Given the description of an element on the screen output the (x, y) to click on. 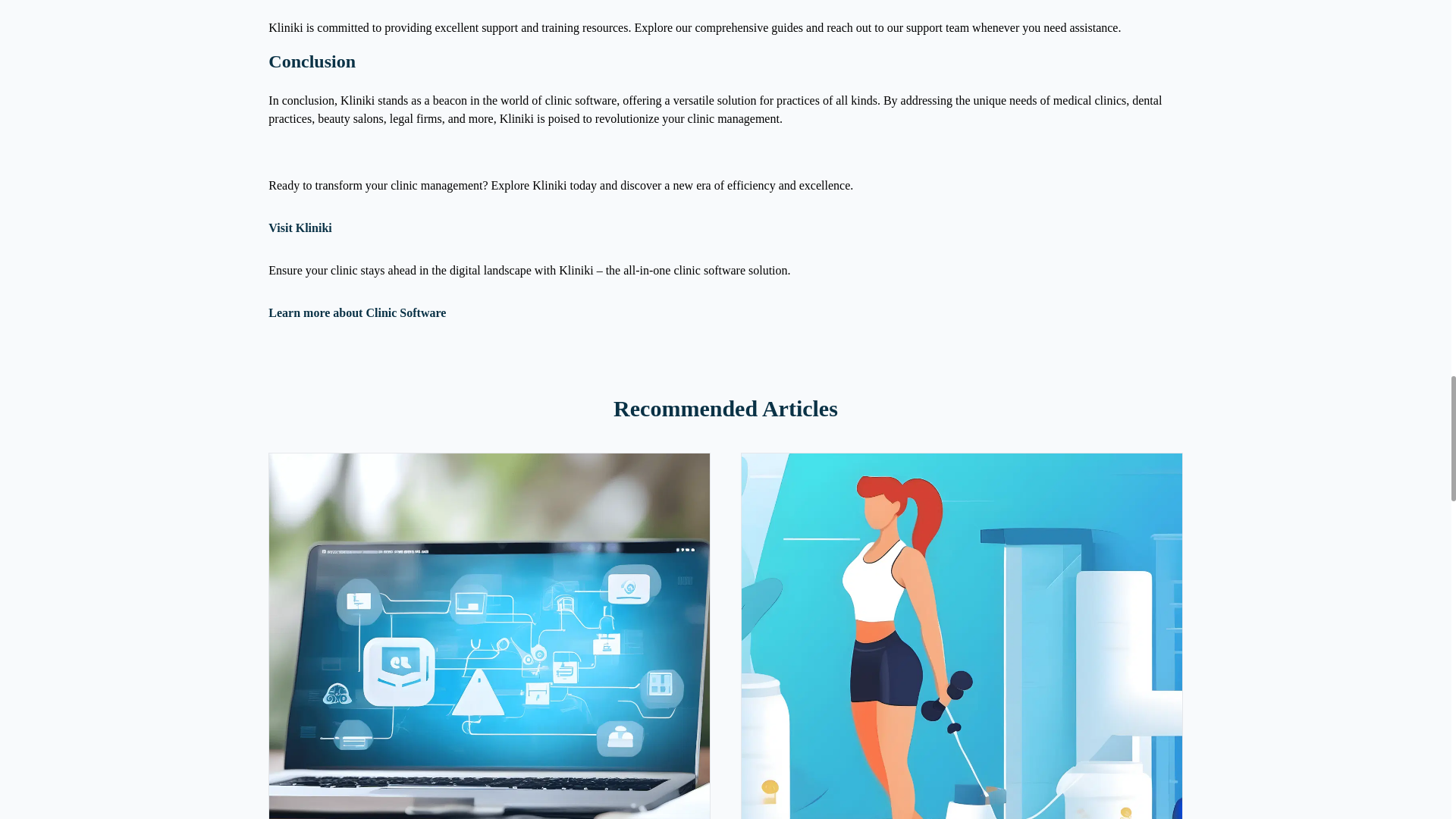
Visit Kliniki (299, 227)
Learn more about Clinic Software (356, 312)
